Given the description of an element on the screen output the (x, y) to click on. 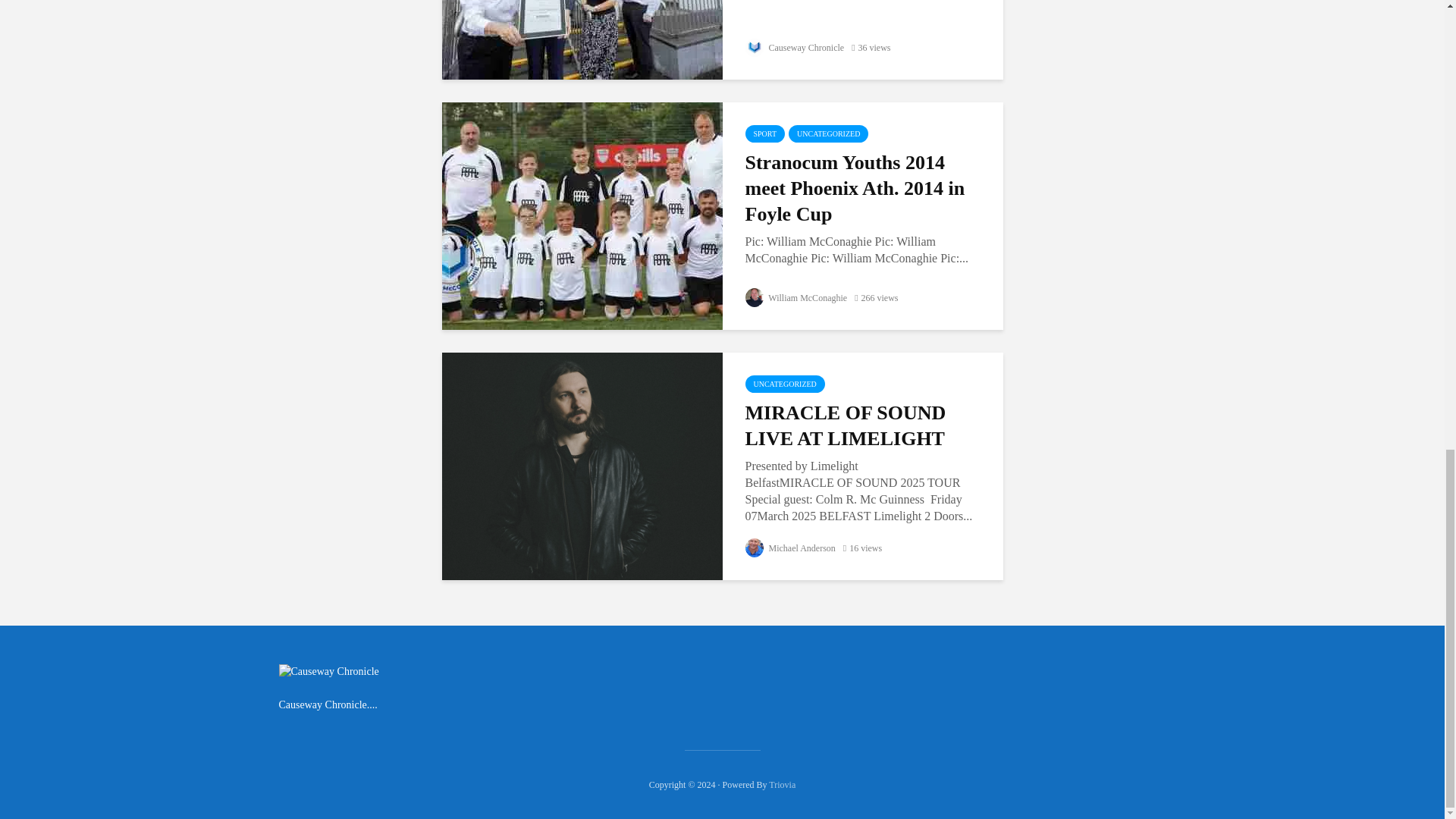
William McConaghie (795, 297)
SPORT (764, 133)
Stranocum Youths 2014 meet Phoenix Ath. 2014 in Foyle Cup (581, 214)
MIRACLE OF SOUND LIVE AT LIMELIGHT (581, 464)
UNCATEGORIZED (784, 384)
Michael Anderson (789, 547)
UNCATEGORIZED (828, 133)
MIRACLE OF SOUND LIVE AT LIMELIGHT (864, 426)
Stranocum Youths 2014 meet Phoenix Ath. 2014 in Foyle Cup (864, 188)
Causeway Chronicle (794, 47)
